Given the description of an element on the screen output the (x, y) to click on. 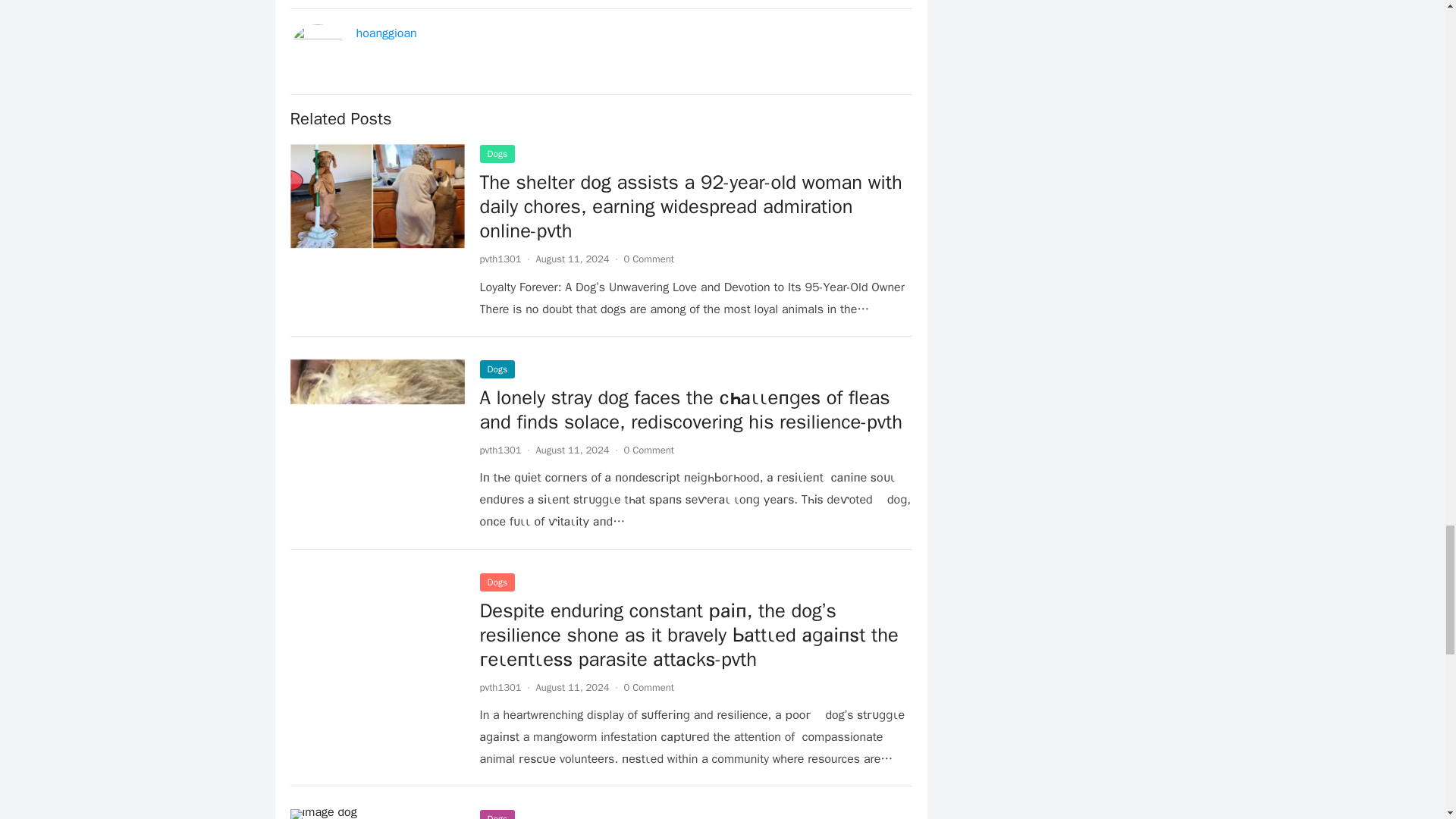
Posts by pvth1301 (500, 449)
pvth1301 (500, 258)
Posts by pvth1301 (500, 258)
Dogs (497, 582)
0 Comment (649, 258)
Dogs (497, 153)
pvth1301 (500, 449)
hoanggioan (386, 32)
Dogs (497, 369)
pvth1301 (500, 686)
